Given the description of an element on the screen output the (x, y) to click on. 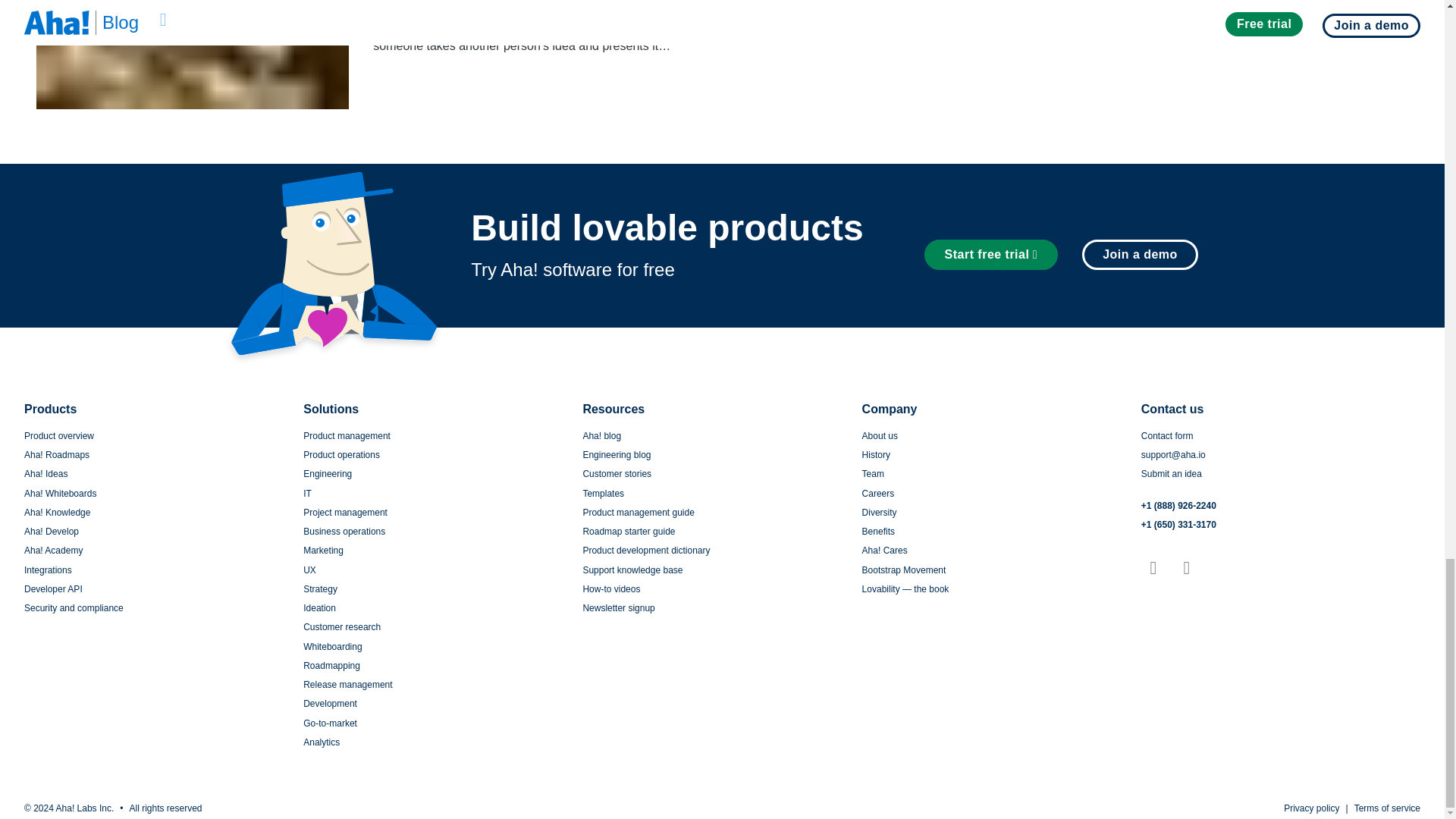
Product management (346, 435)
Integrations (47, 570)
Join a demo (1134, 254)
Start free trial (991, 254)
Aha! Academy (53, 550)
Aha! Roadmaps (56, 454)
Engineering (327, 473)
Facebook (1186, 567)
Linkedin (1153, 567)
Security and compliance (73, 607)
Product operations (341, 454)
Aha! Ideas (45, 473)
Aha! Develop (51, 531)
Aha! Whiteboards (60, 493)
Join a demo (1139, 254)
